Given the description of an element on the screen output the (x, y) to click on. 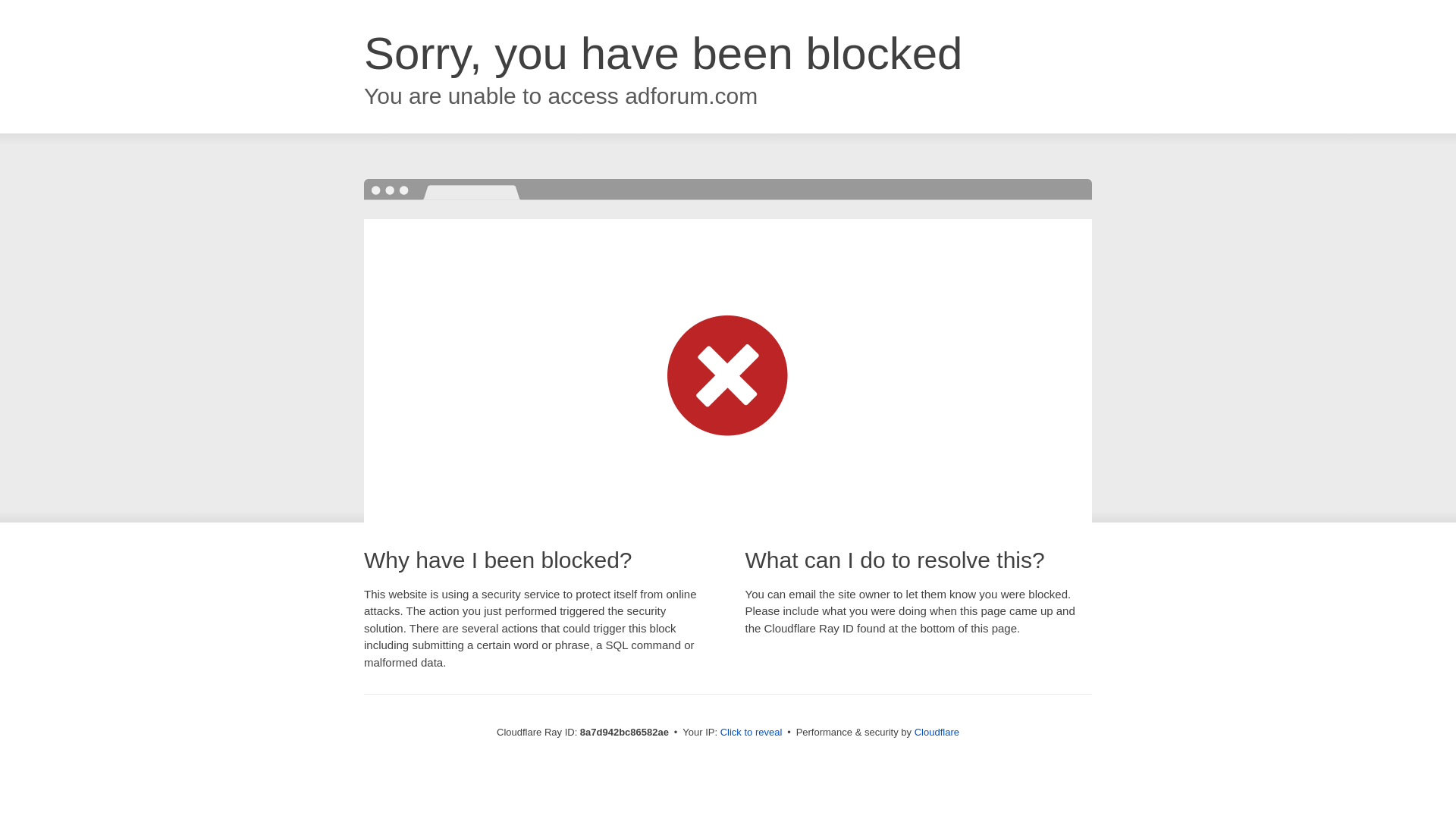
Click to reveal (751, 732)
Cloudflare (936, 731)
